Given the description of an element on the screen output the (x, y) to click on. 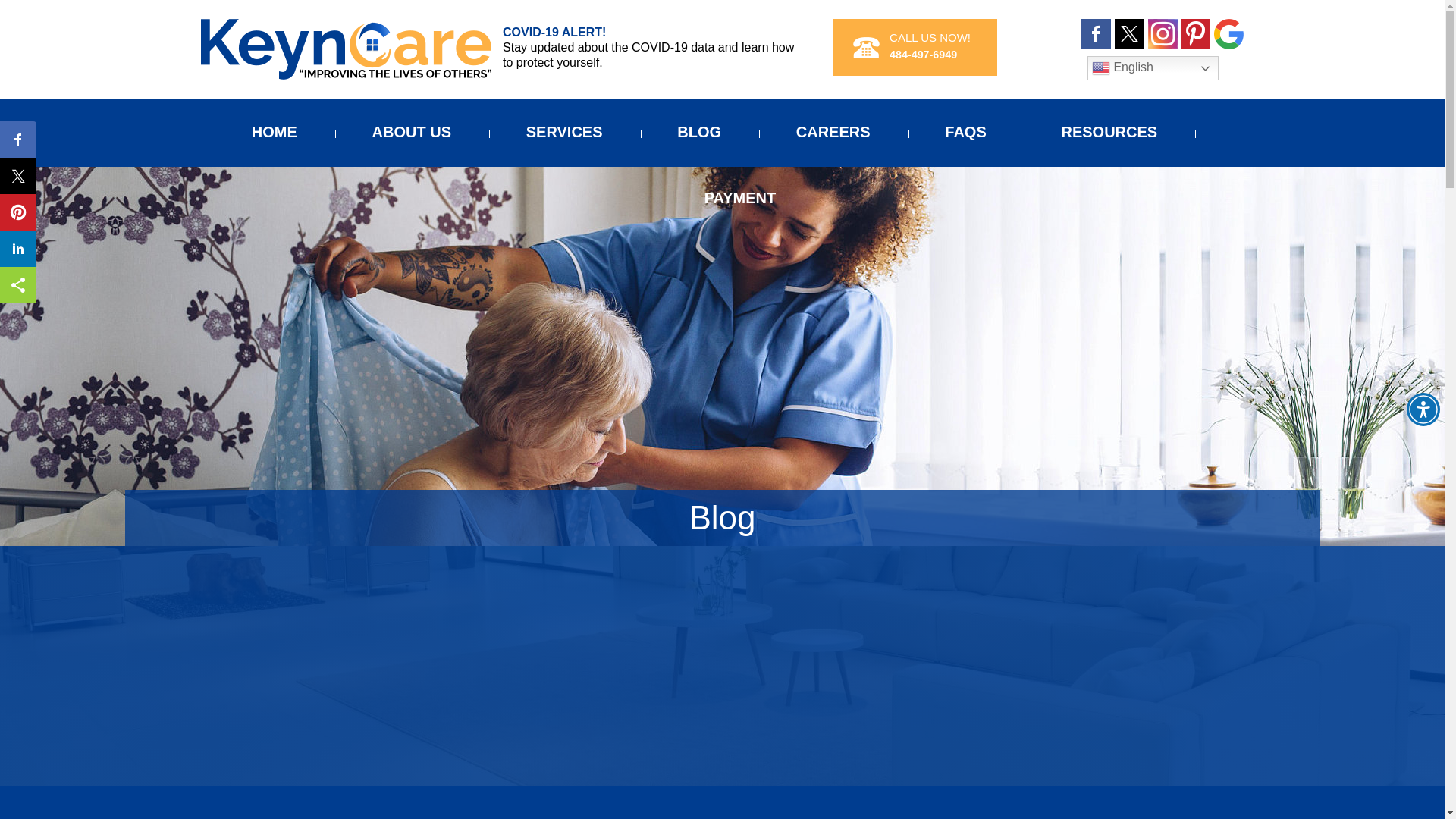
PAYMENT (734, 197)
Accessibility Menu (1422, 409)
RESOURCES (1109, 132)
HOME (279, 132)
484-497-6949 (922, 54)
SERVICES (564, 132)
CAREERS (833, 132)
FAQS (965, 132)
ABOUT US (412, 132)
BLOG (698, 132)
English (1152, 68)
COVID-19 ALERT! (649, 32)
